Given the description of an element on the screen output the (x, y) to click on. 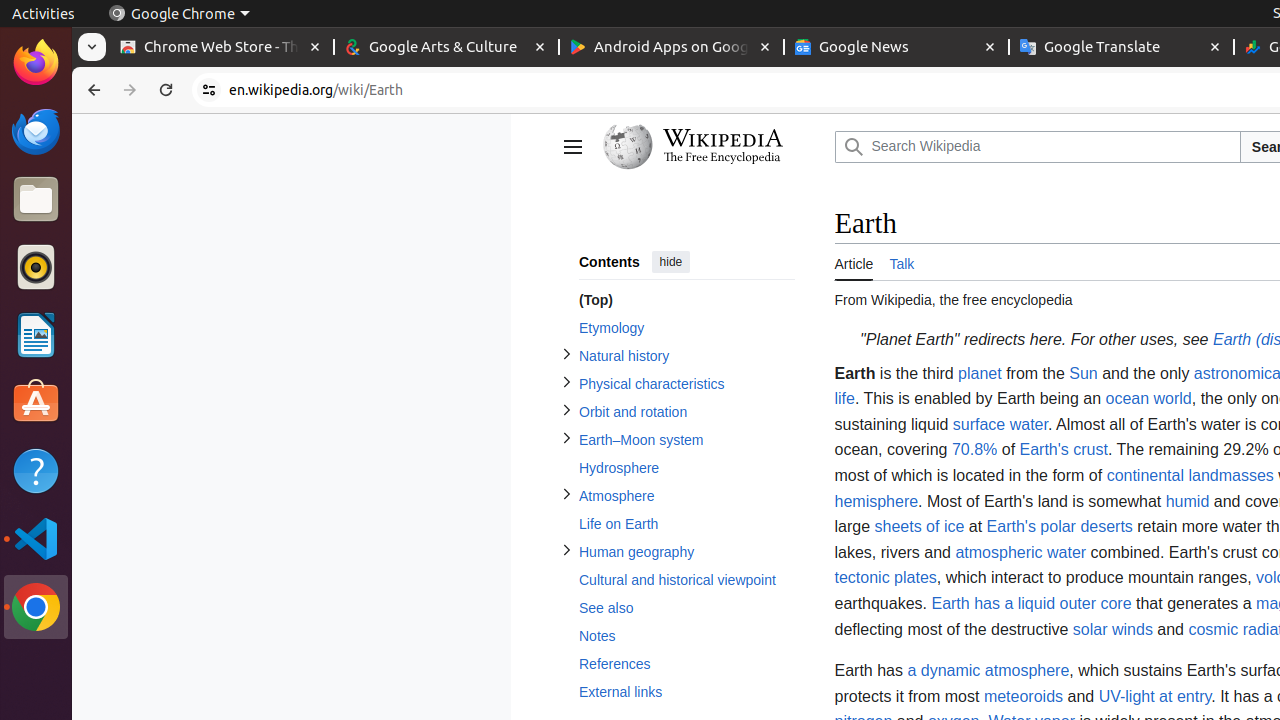
Human geography Element type: link (686, 552)
UV-light at entry Element type: link (1155, 696)
Back Element type: push-button (91, 90)
planet Element type: link (980, 373)
Help Element type: push-button (36, 470)
